Given the description of an element on the screen output the (x, y) to click on. 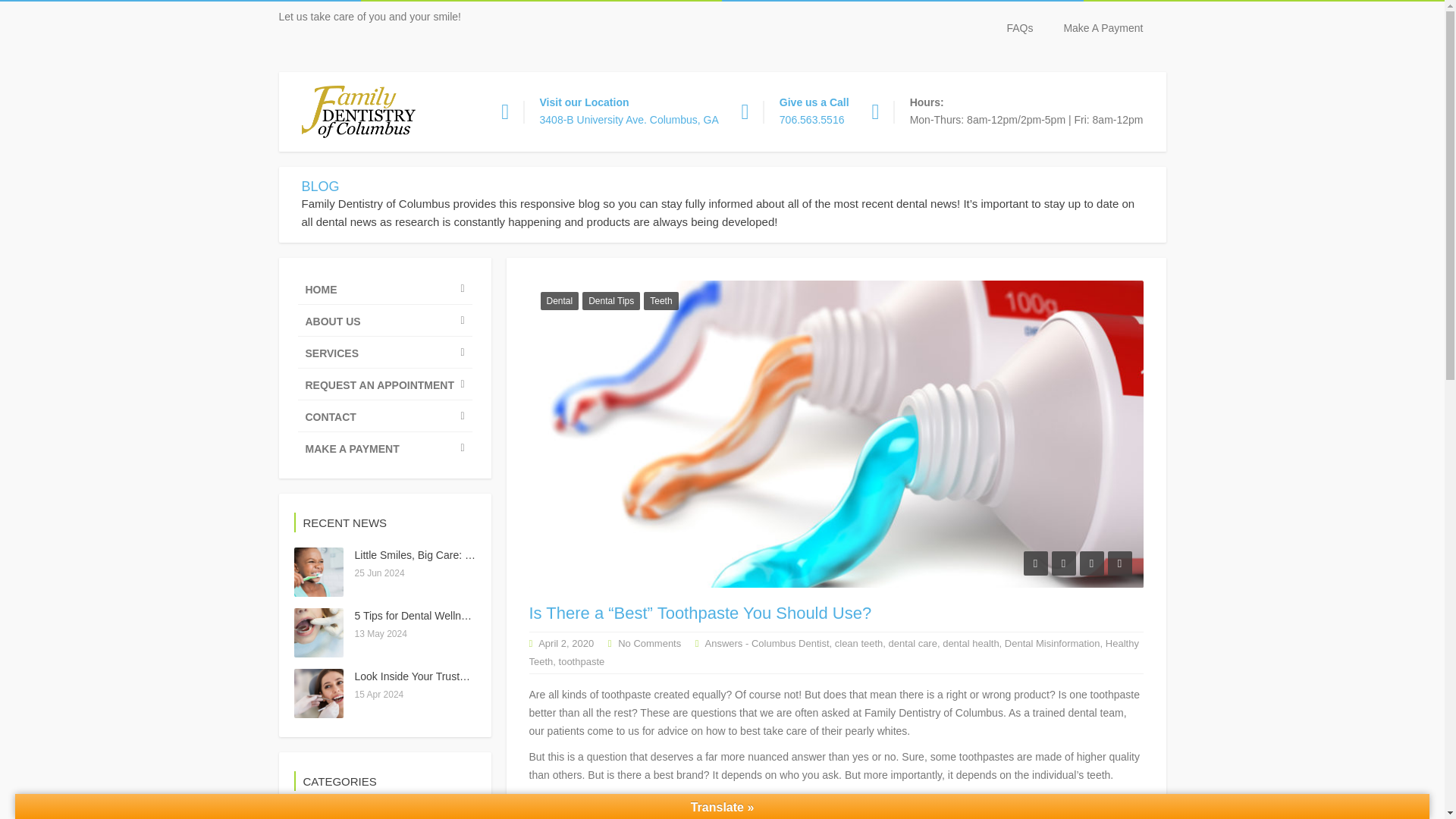
SERVICES (384, 351)
Little Smiles, Big Care: Navigating Pediatric Dentistry (599, 119)
HOME (783, 119)
5 Tips for Dental Wellness in Columbus, GA (479, 554)
ABOUT US (384, 287)
Look Inside Your Trusted Dental Office (457, 615)
